Given the description of an element on the screen output the (x, y) to click on. 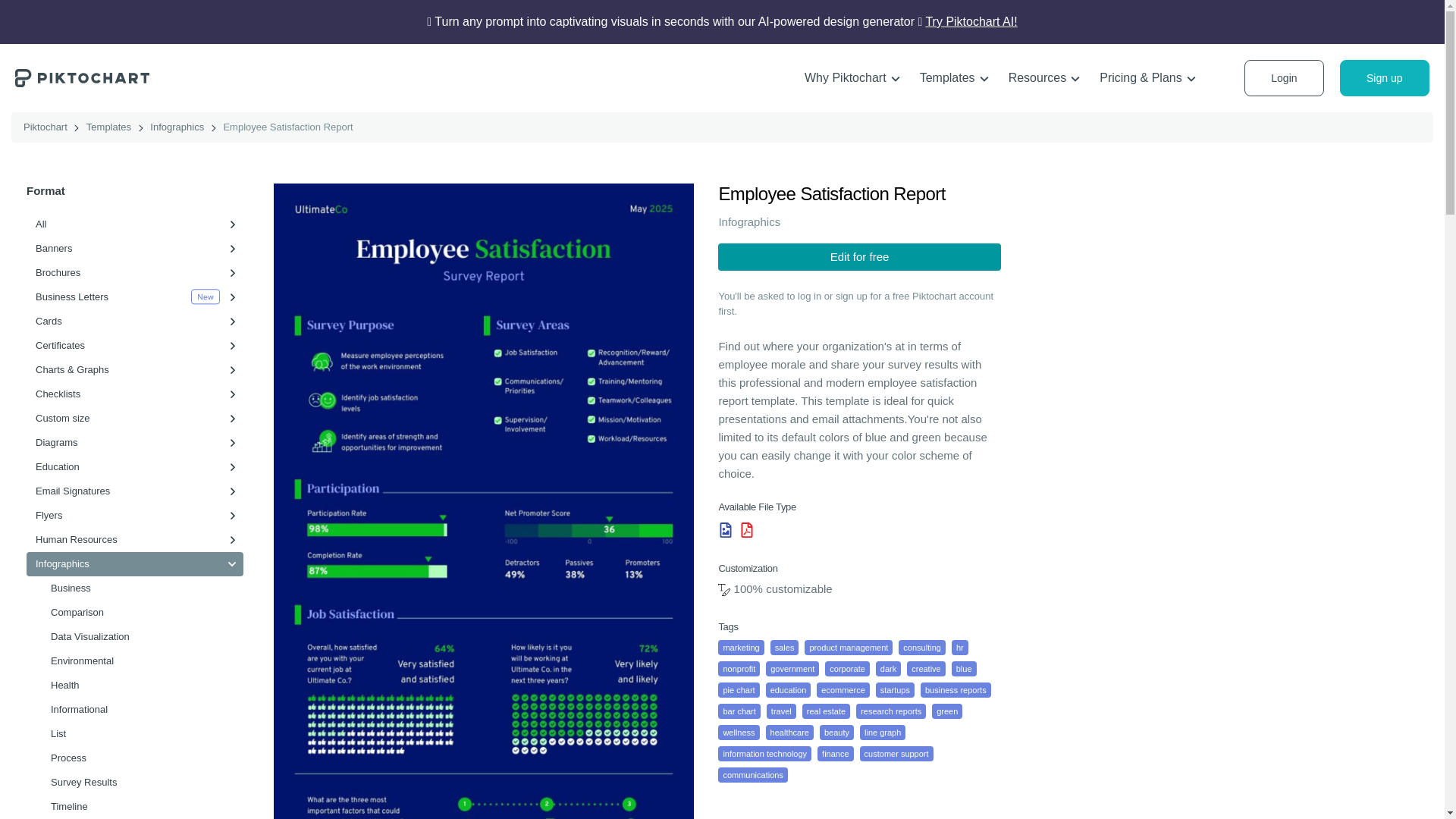
Why Piktochart (852, 78)
Why Piktochart (852, 78)
Try Piktochart AI! (970, 21)
Piktochart (81, 77)
